Given the description of an element on the screen output the (x, y) to click on. 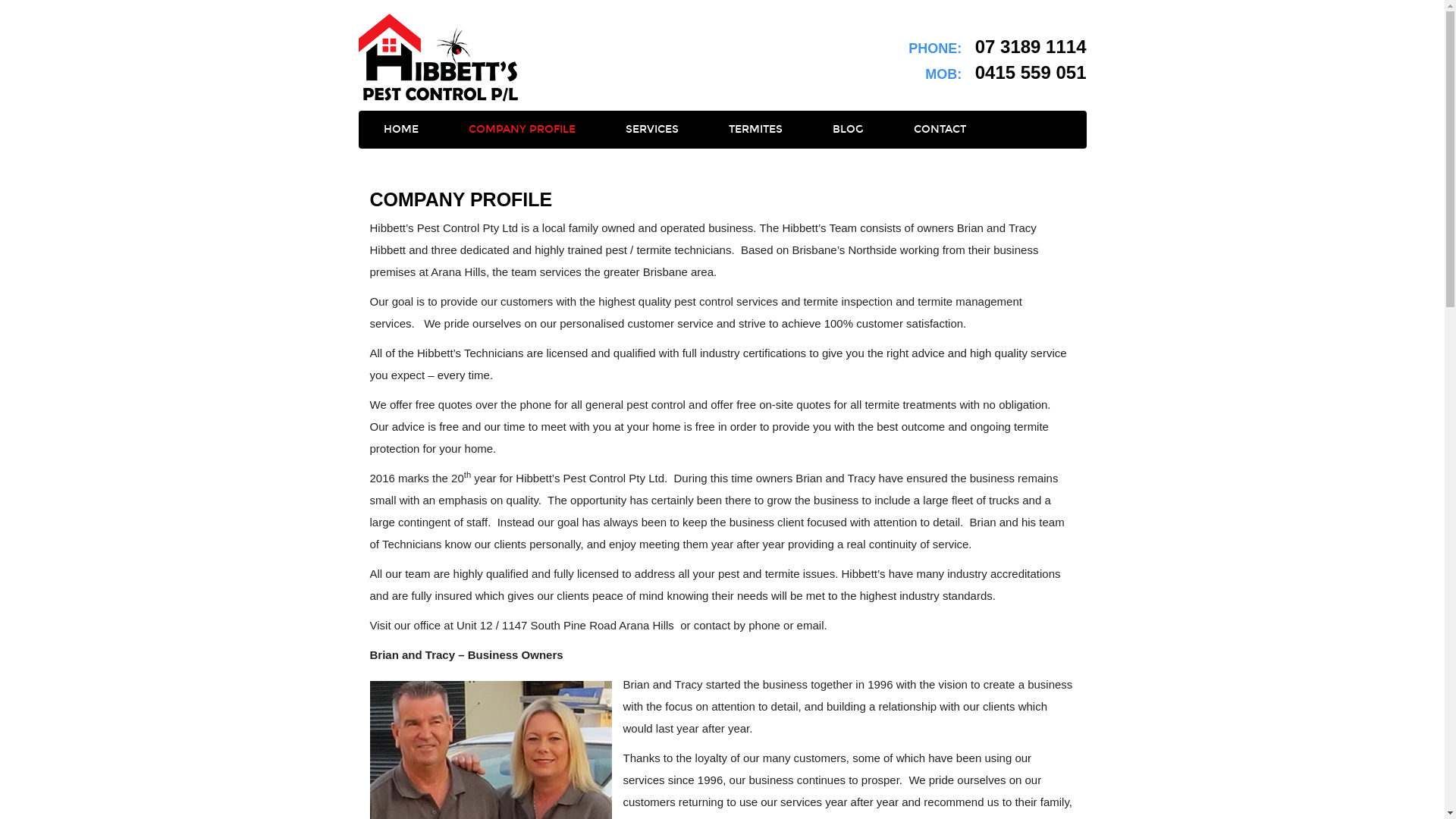
CONTACT Element type: text (939, 129)
HOME Element type: text (399, 129)
COMPANY PROFILE Element type: text (520, 129)
Hibbett's Pest Contol P/L Element type: hover (438, 57)
TERMITES Element type: text (755, 129)
07 3189 1114 Element type: text (1030, 46)
BLOG Element type: text (847, 129)
SERVICES Element type: text (651, 129)
